Given the description of an element on the screen output the (x, y) to click on. 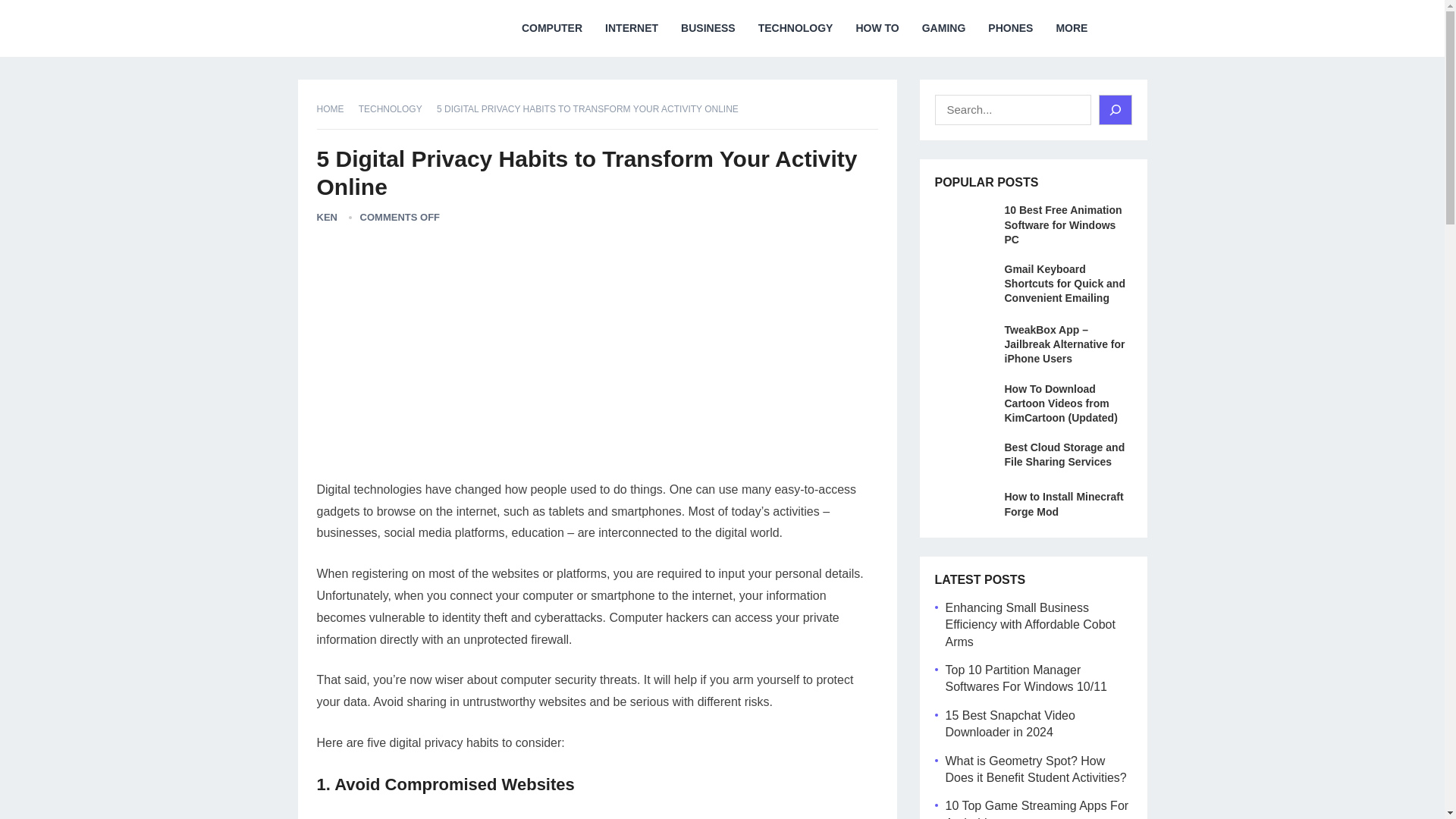
HOW TO (877, 28)
KEN (327, 216)
MORE (1071, 28)
PHONES (1009, 28)
COMPUTER (552, 28)
TECHNOLOGY (795, 28)
BUSINESS (707, 28)
View all posts in Technology (395, 109)
Gmail Keyboard Shortcuts for Quick and Convenient Emailing (1064, 282)
10 Best Free Animation Software for Windows PC (1062, 223)
